Given the description of an element on the screen output the (x, y) to click on. 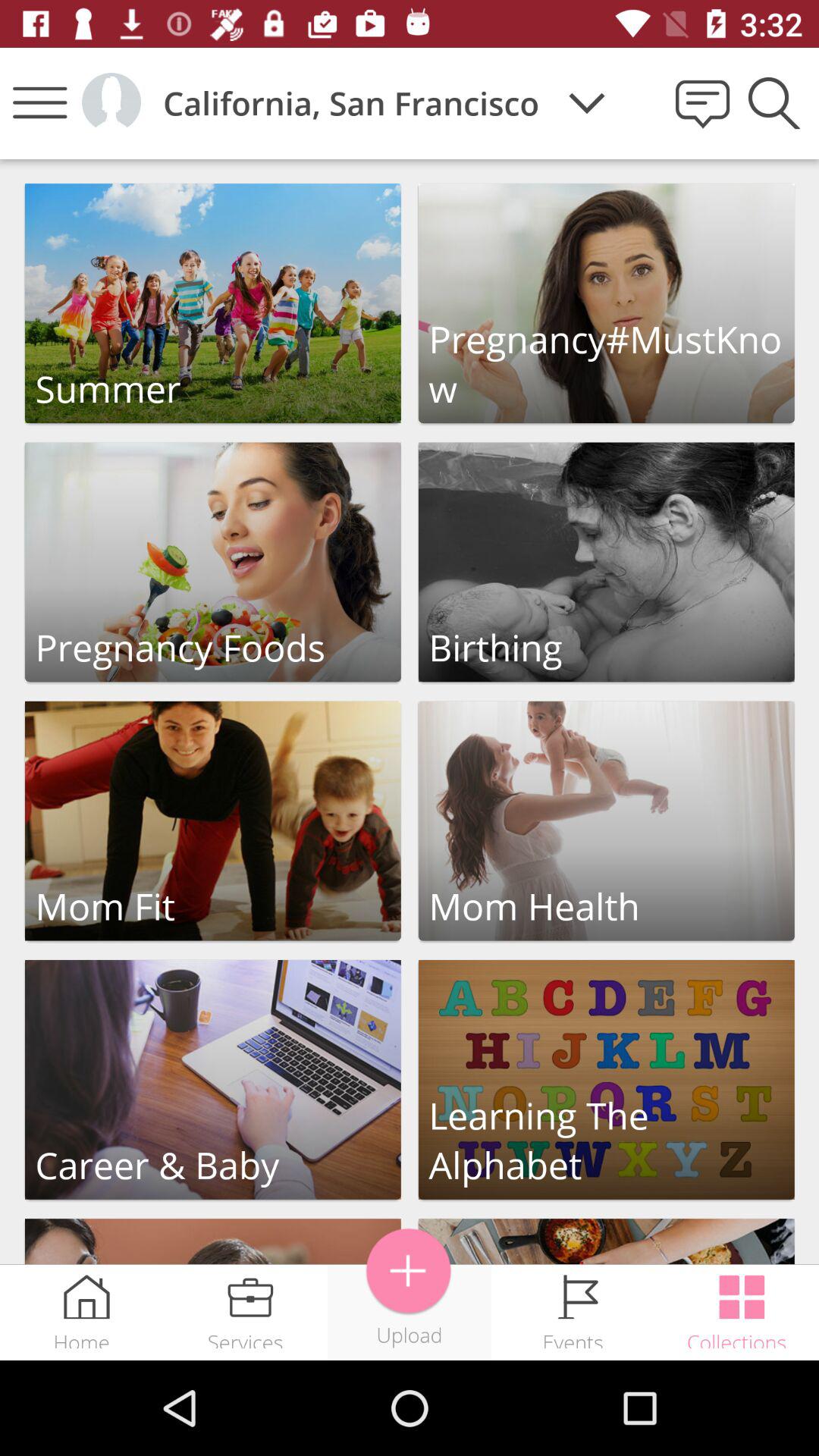
view the career and baby sections (212, 1079)
